Given the description of an element on the screen output the (x, y) to click on. 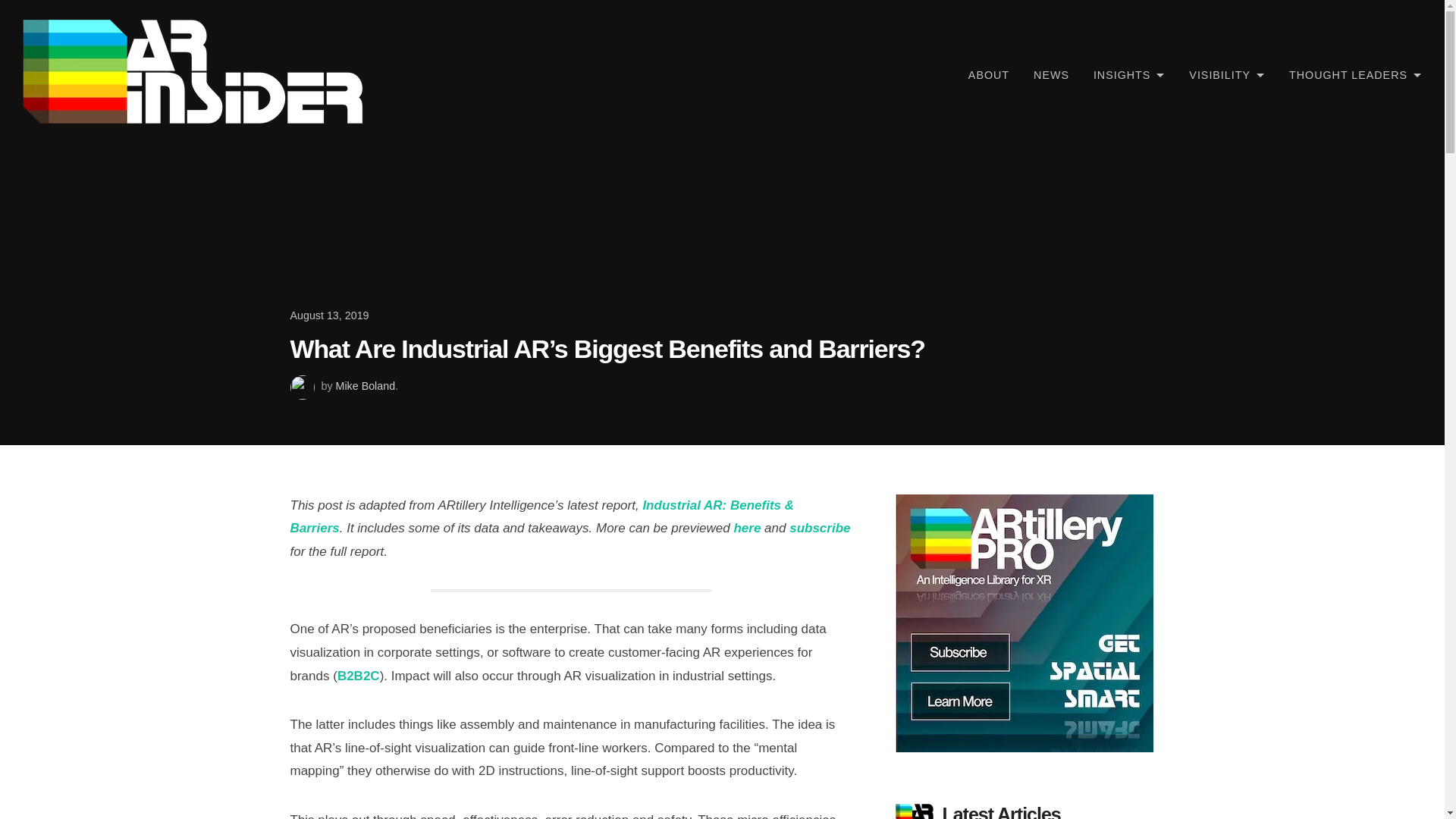
subscribe (819, 527)
INSIGHTS (1128, 74)
B2B2C (358, 676)
August 13, 2019 (721, 315)
NEWS (1051, 74)
here (746, 527)
THOUGHT LEADERS (1355, 74)
ABOUT (989, 74)
VISIBILITY (1226, 74)
Mike Boland (366, 386)
